Given the description of an element on the screen output the (x, y) to click on. 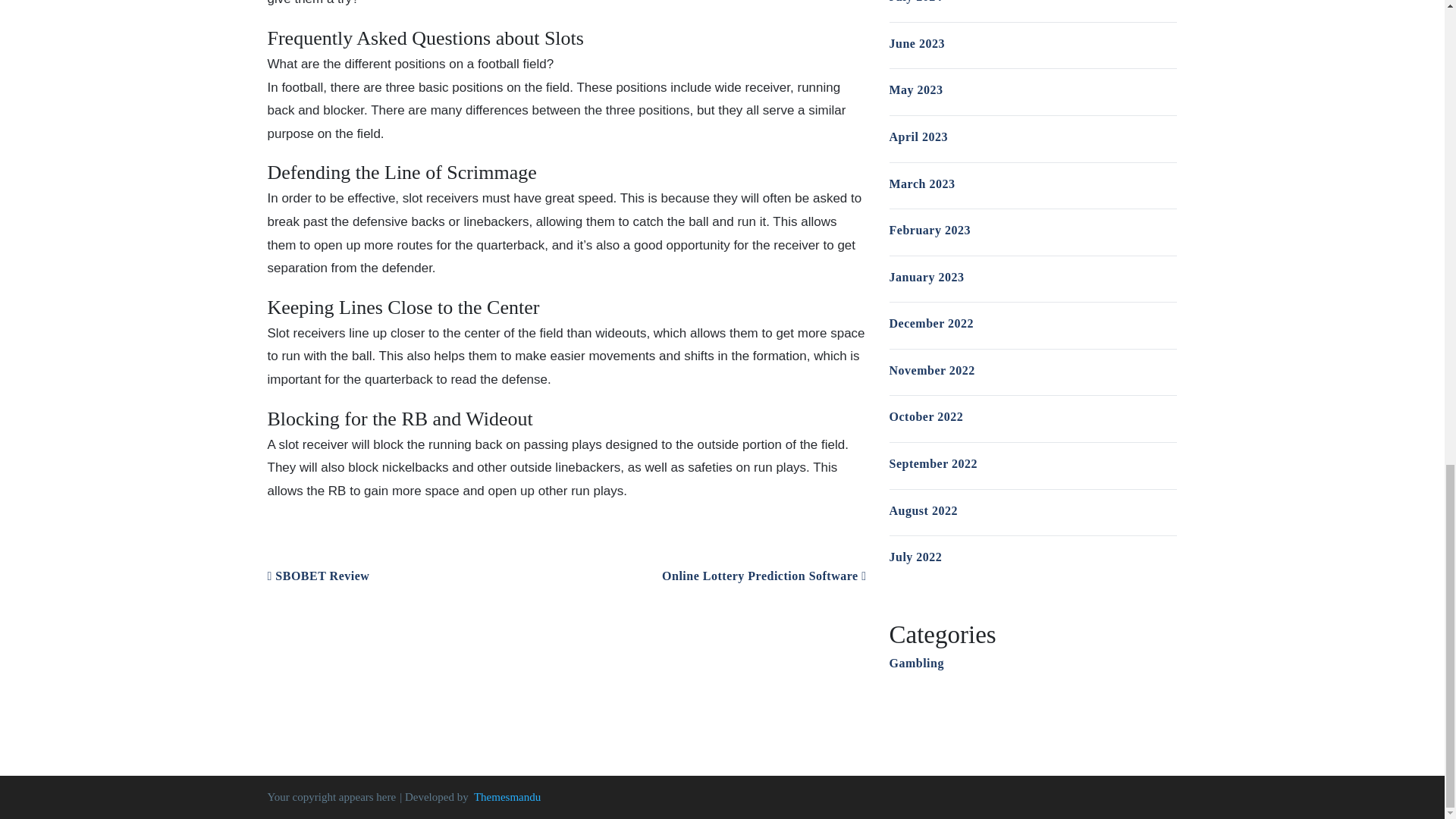
October 2022 (925, 416)
April 2023 (917, 136)
Themesmandu (507, 797)
Gambling (915, 662)
July 2022 (915, 556)
May 2023 (915, 89)
December 2022 (931, 323)
February 2023 (928, 229)
January 2023 (925, 277)
SBOBET Review (317, 575)
June 2023 (915, 42)
July 2024 (915, 1)
November 2022 (931, 369)
September 2022 (932, 463)
Online Lottery Prediction Software (764, 575)
